Given the description of an element on the screen output the (x, y) to click on. 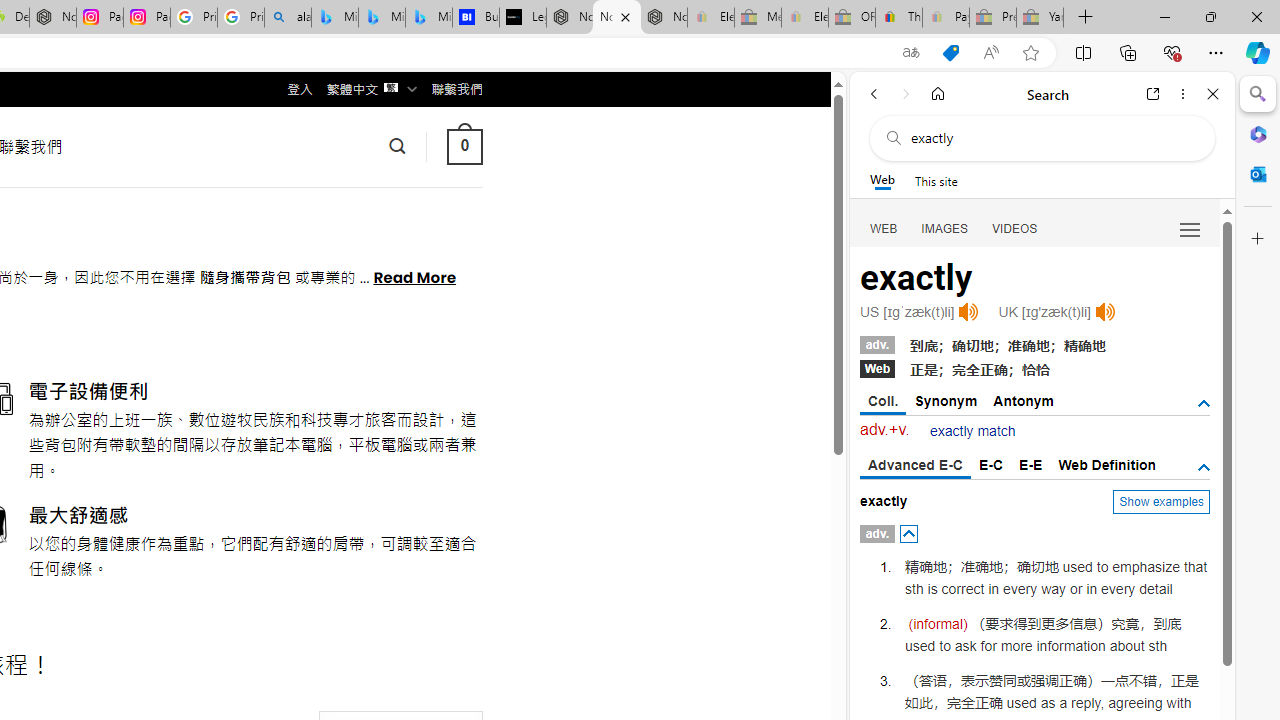
Class: b_serphb (1190, 229)
AutomationID: tgsb (1203, 404)
Microsoft Bing Travel - Shangri-La Hotel Bangkok (428, 17)
